Given the description of an element on the screen output the (x, y) to click on. 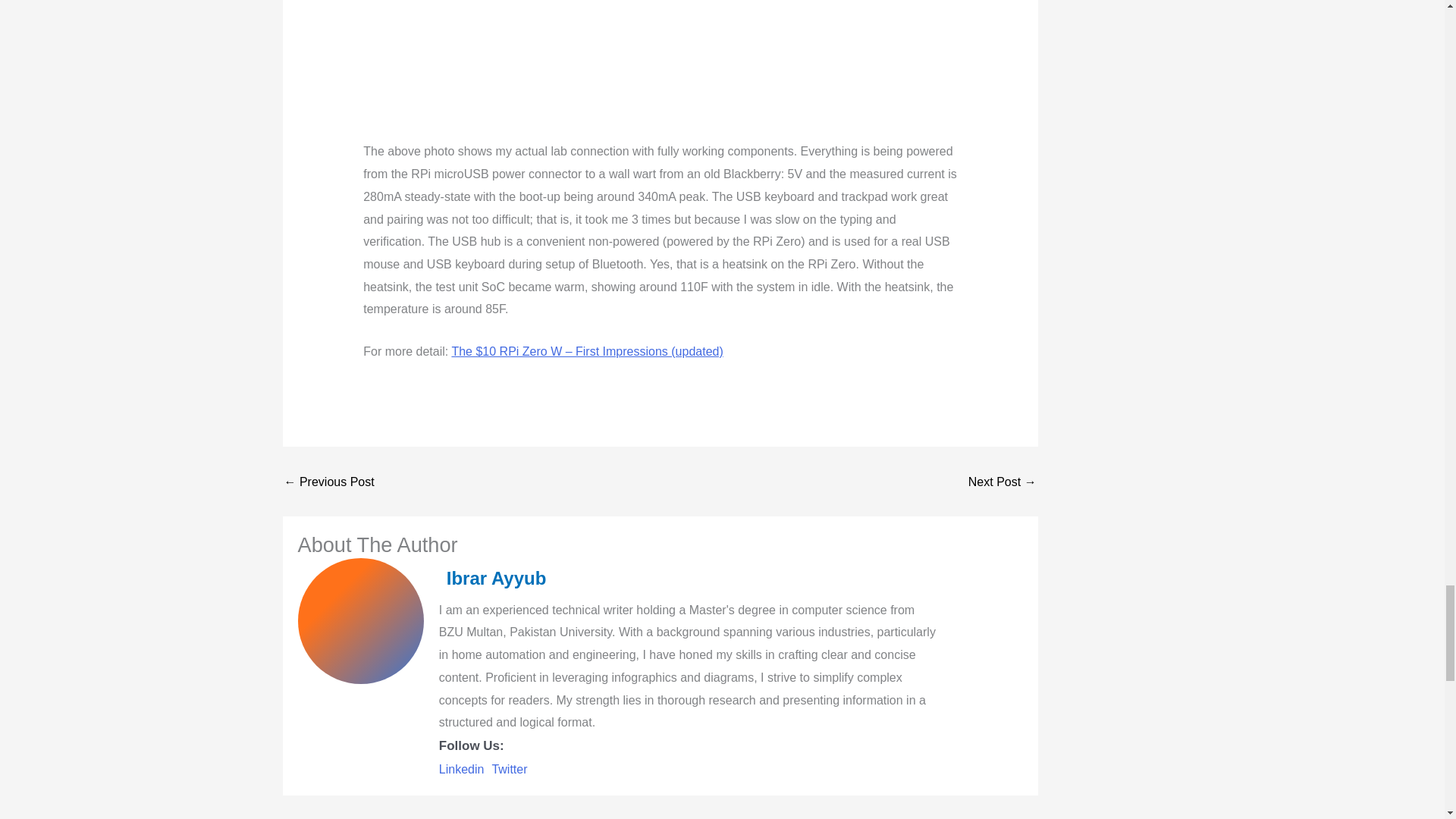
Post Tweets With Your Raspberry Pi (328, 481)
